Given the description of an element on the screen output the (x, y) to click on. 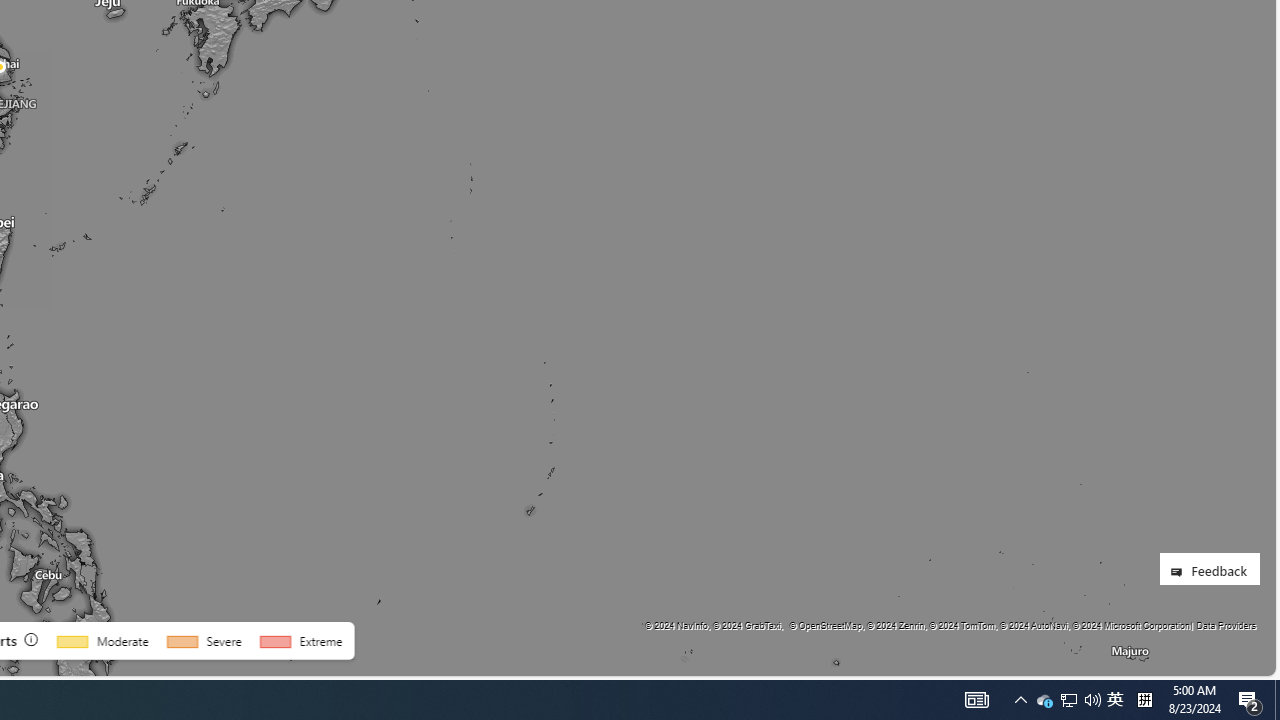
Data Providers (1225, 625)
Class: feedback_link_icon-DS-EntryPoint1-1 (1179, 571)
